Given the description of an element on the screen output the (x, y) to click on. 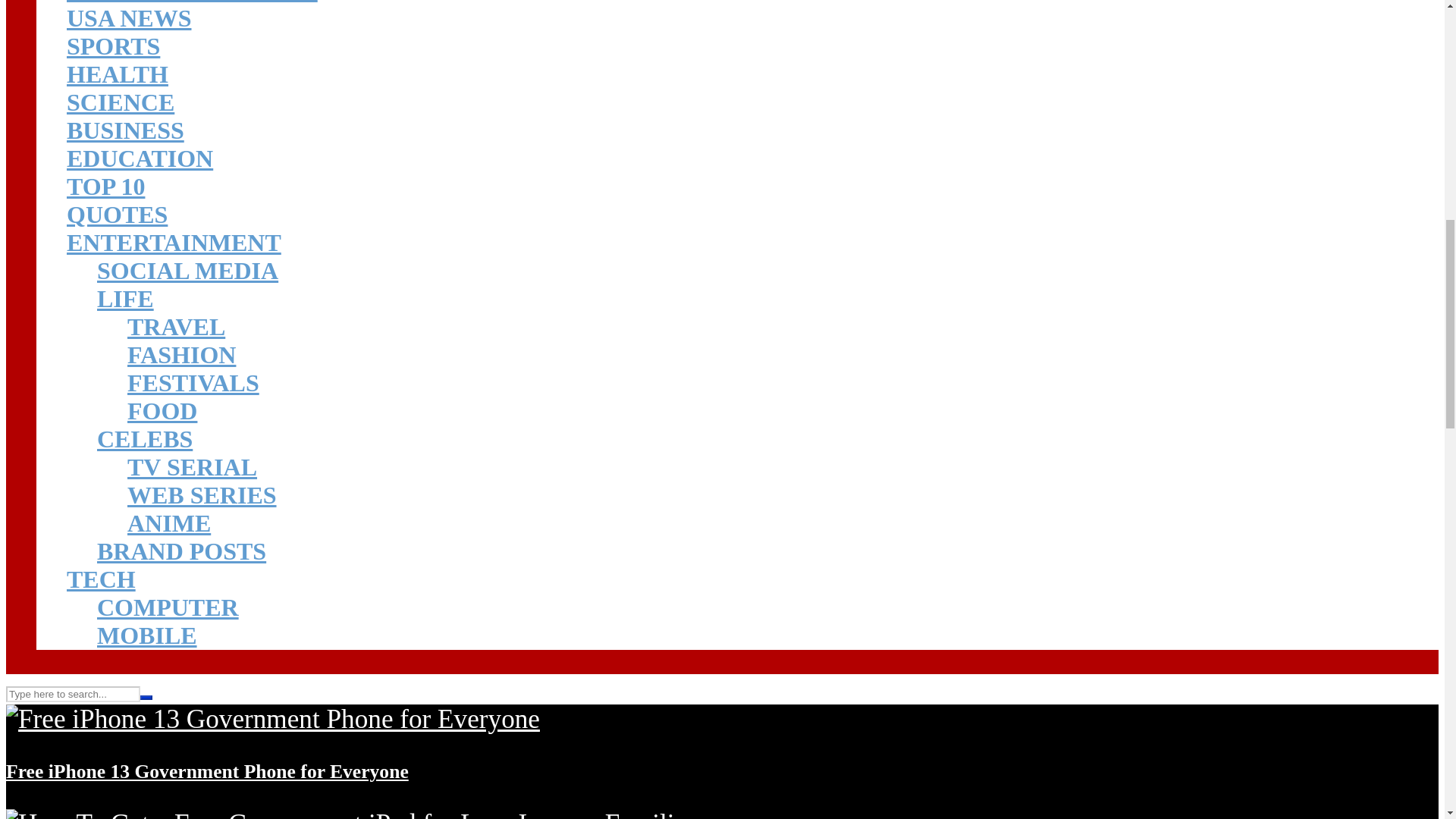
NEWS AND POLITICS (191, 2)
QUOTES (116, 214)
USA NEWS (129, 17)
Free iPhone 13 Government Phone for Everyone (272, 718)
EDUCATION (139, 157)
FESTIVALS (193, 382)
ENTERTAINMENT (173, 242)
SOCIAL MEDIA (187, 270)
BUSINESS (125, 130)
SCIENCE (120, 102)
